Given the description of an element on the screen output the (x, y) to click on. 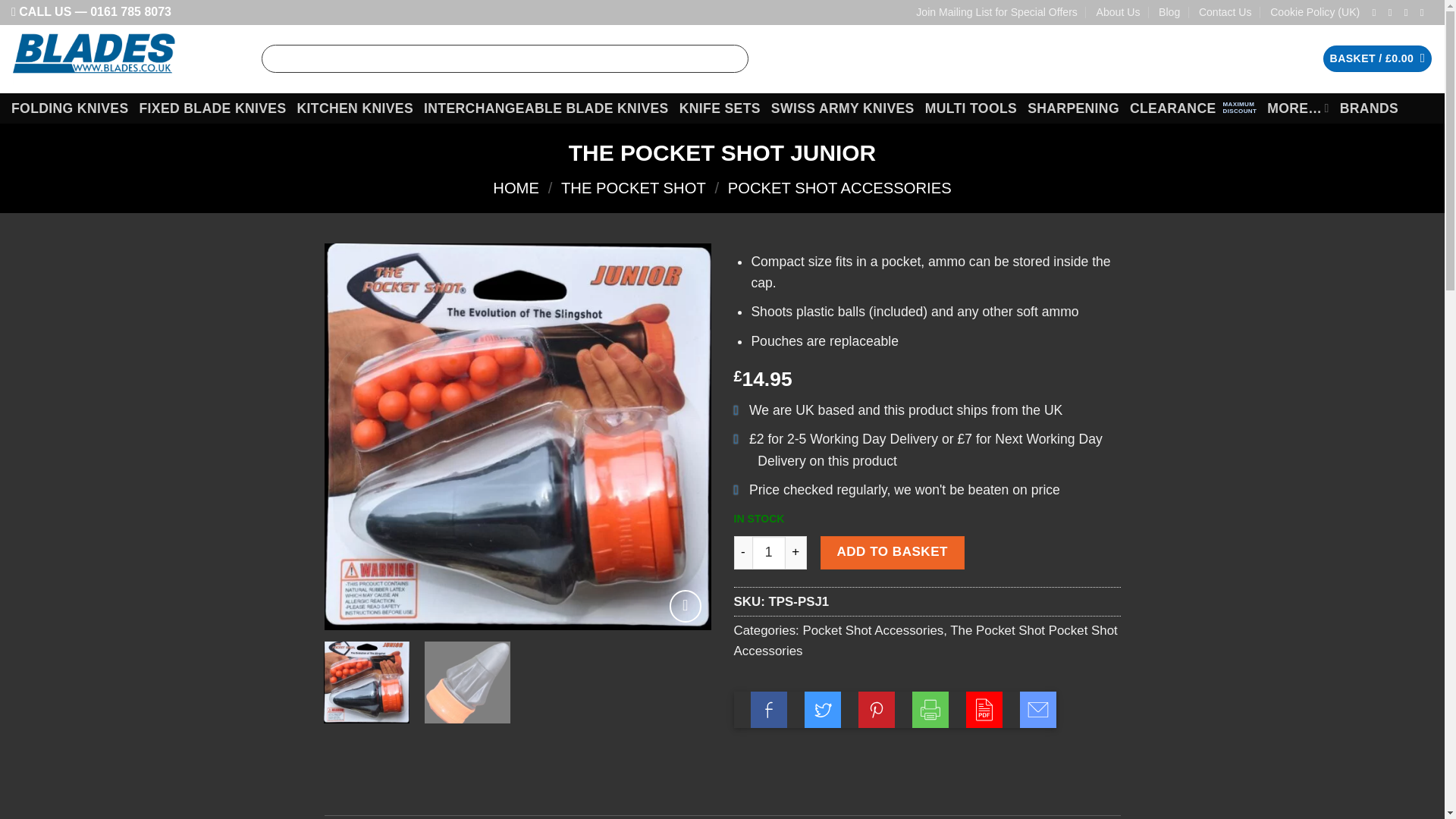
Share on Facebook (769, 709)
KNIFE SETS (719, 108)
Search (732, 58)
1 (769, 552)
SHARPENING (1073, 108)
Print product (930, 709)
About Us (1118, 12)
Zoom (685, 605)
Share on Twitter (823, 709)
Email to a friend (1038, 709)
